Given the description of an element on the screen output the (x, y) to click on. 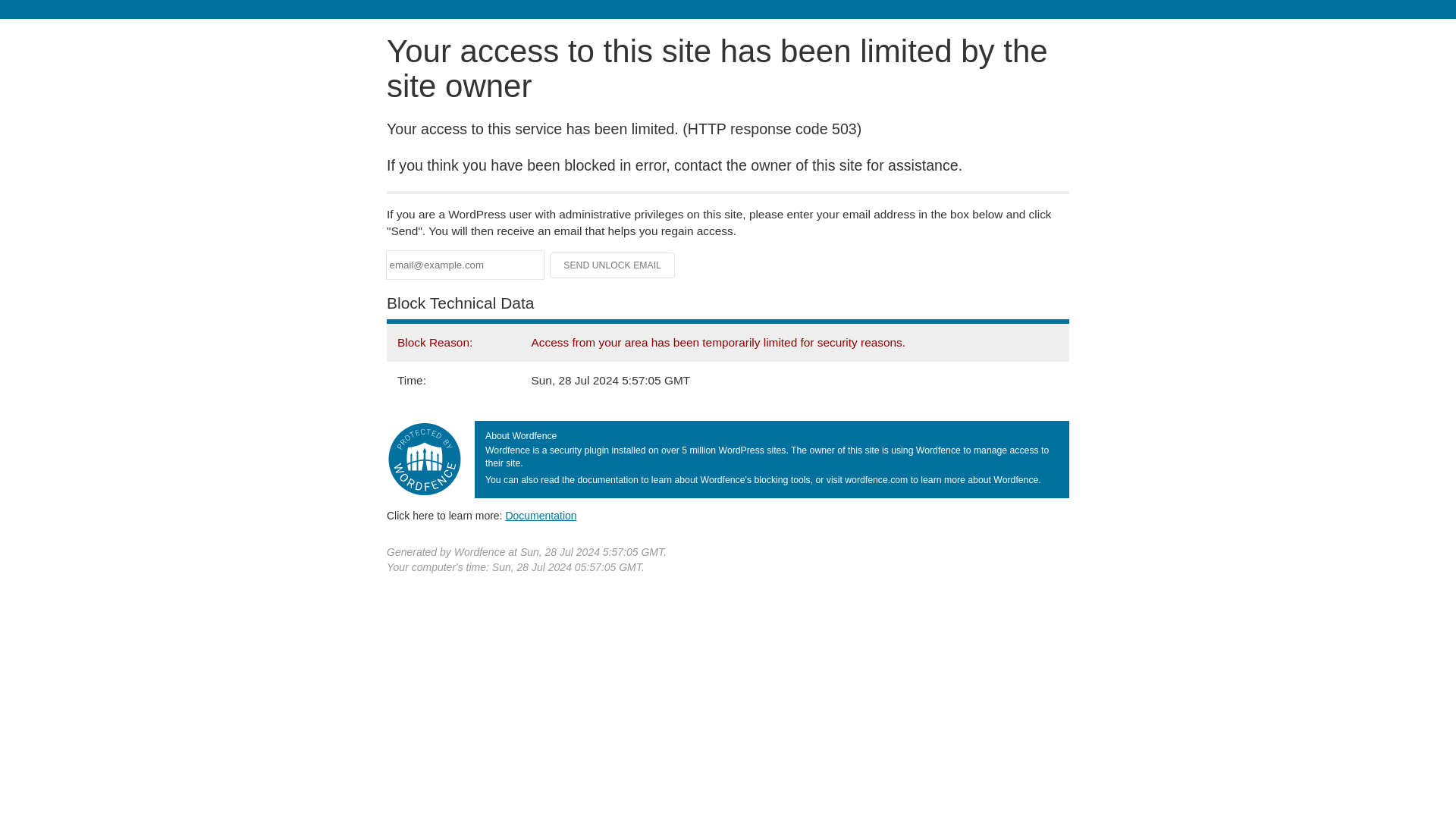
Documentation (540, 515)
Send Unlock Email (612, 265)
Send Unlock Email (612, 265)
